Given the description of an element on the screen output the (x, y) to click on. 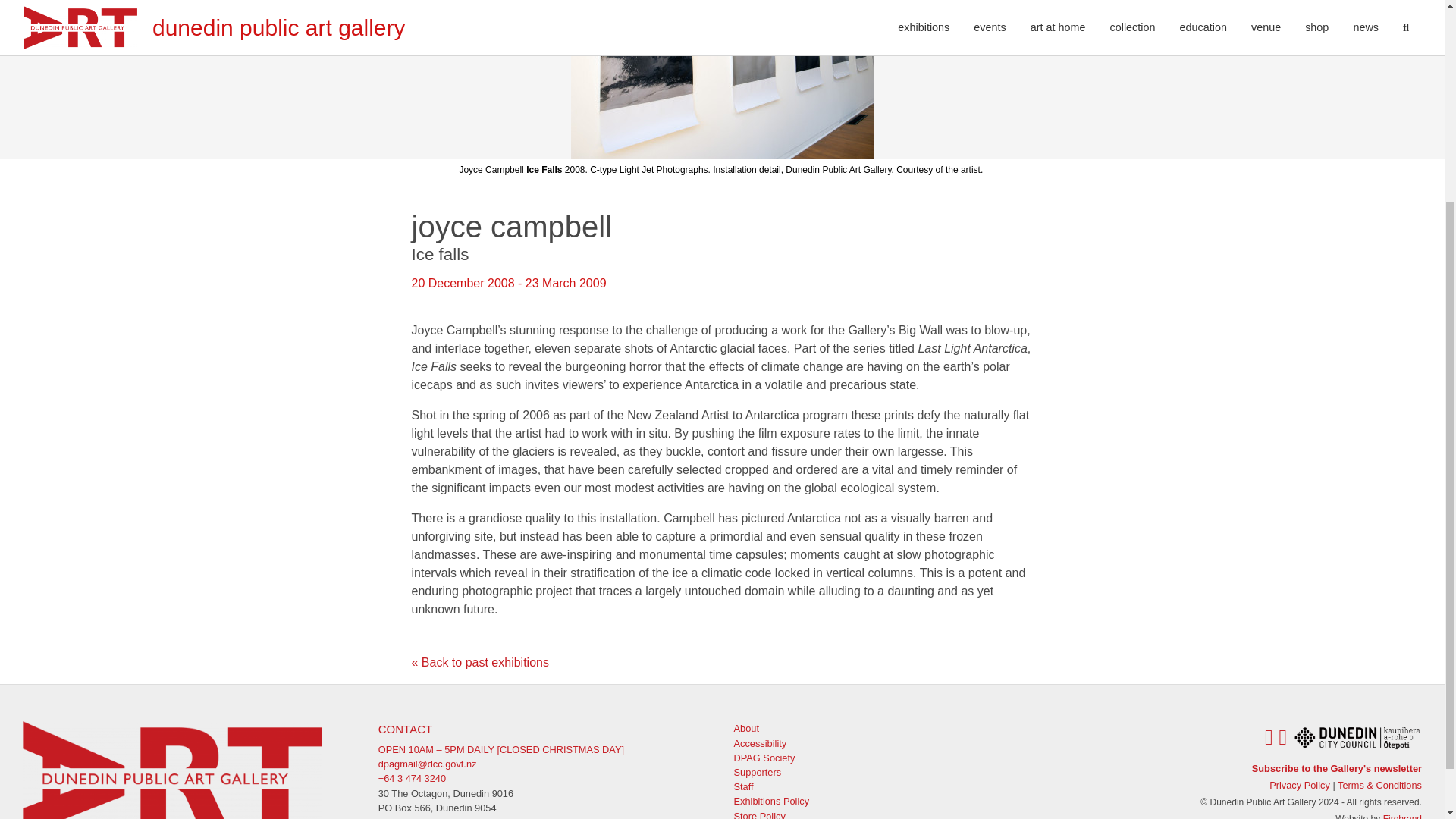
Accessibility (760, 743)
About (745, 727)
CONTACT (405, 728)
Supporters (757, 772)
Subscribe to the Gallery's newsletter (1337, 767)
Privacy Policy (1299, 785)
DPAG Society (763, 757)
Staff (743, 786)
Exhibitions Policy (771, 800)
